Given the description of an element on the screen output the (x, y) to click on. 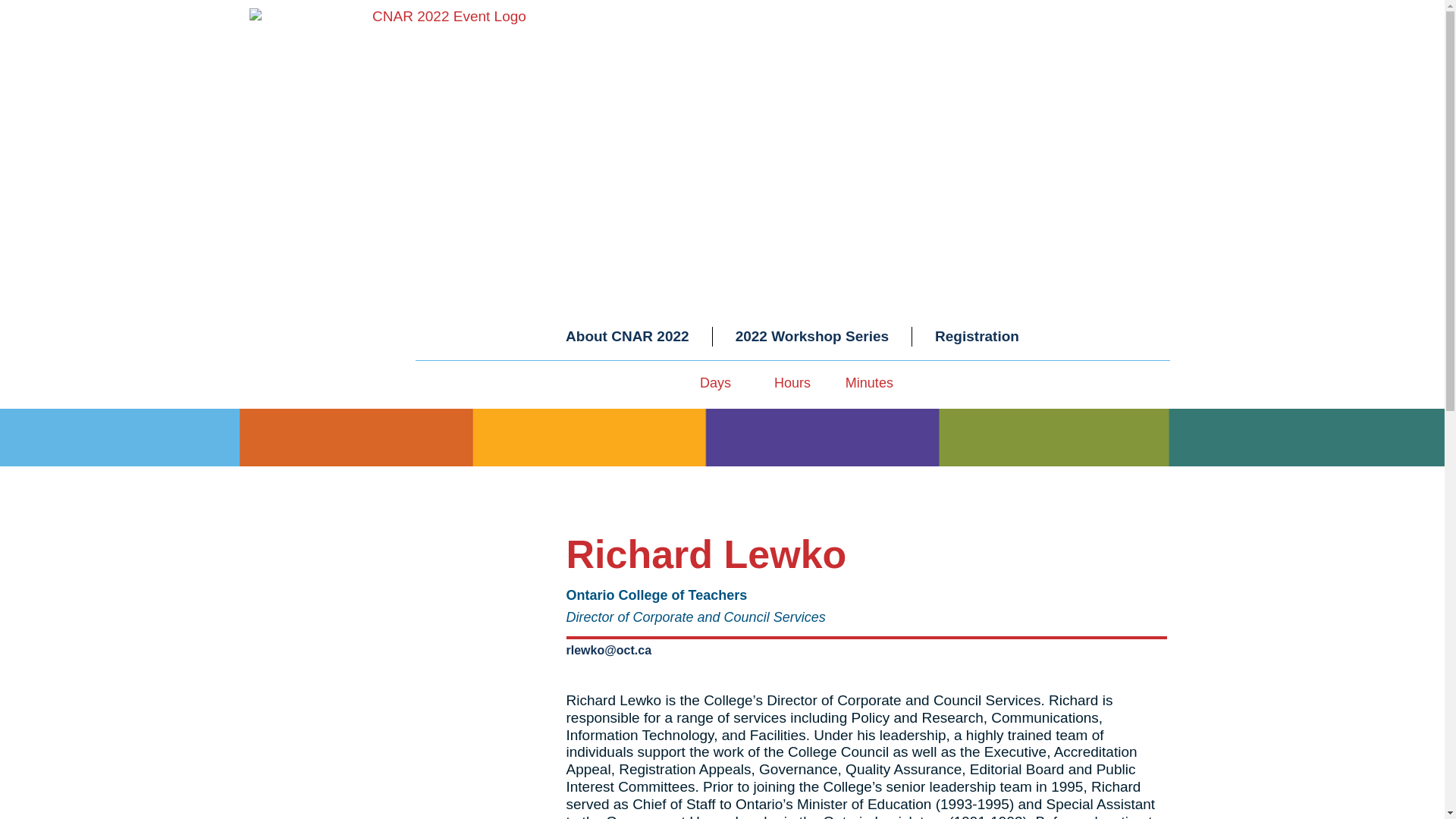
Registration (976, 336)
About CNAR 2022 (627, 336)
2022 Workshop Series (812, 336)
